Given the description of an element on the screen output the (x, y) to click on. 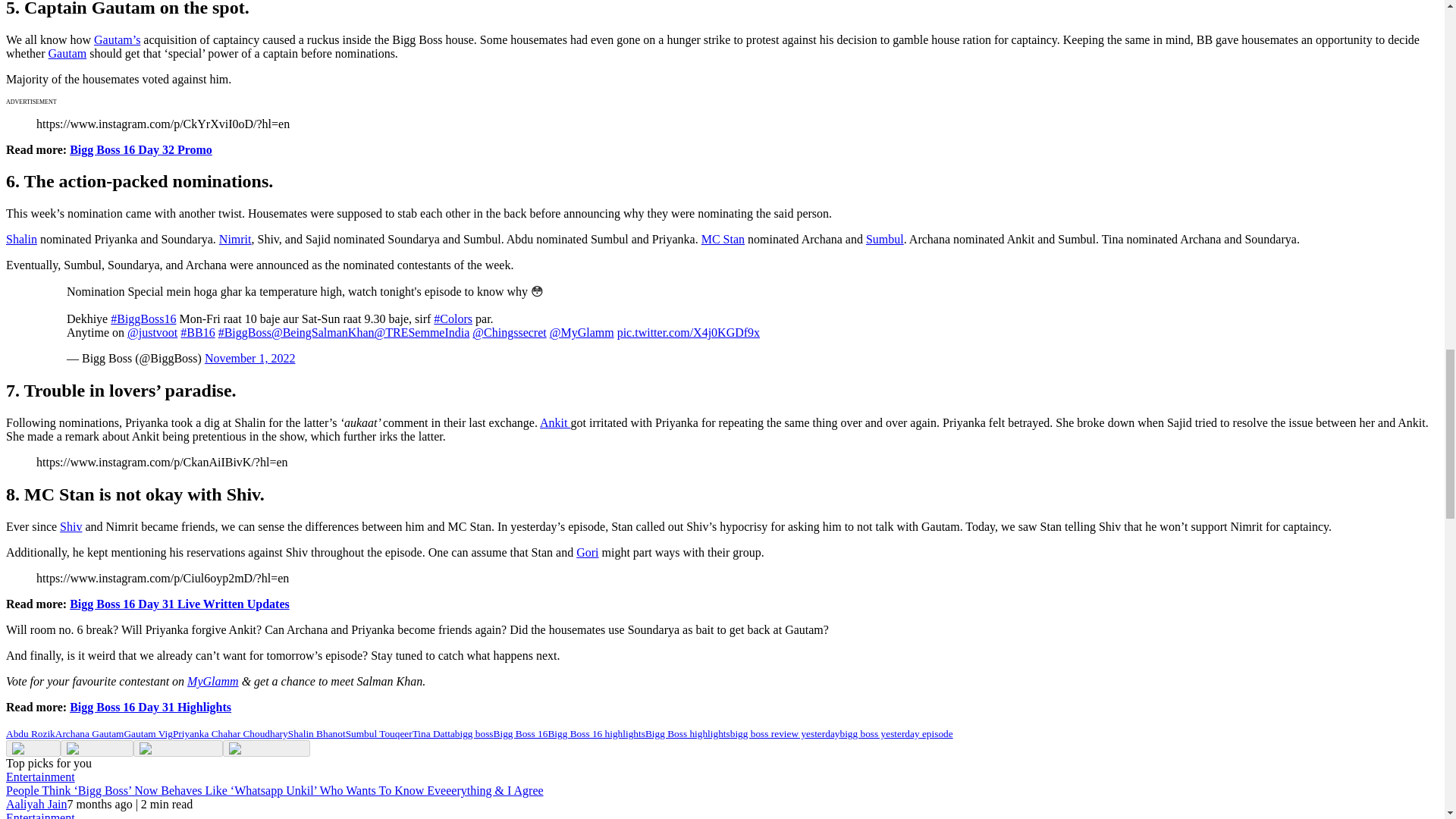
Shiv (70, 526)
Gautam (67, 52)
Gautam's (116, 39)
Ankit (555, 422)
Gori (587, 552)
Bigg Boss 16 Day 31 Highlights (150, 707)
Bigg Boss 16 Day 32 Promo (140, 149)
